Given the description of an element on the screen output the (x, y) to click on. 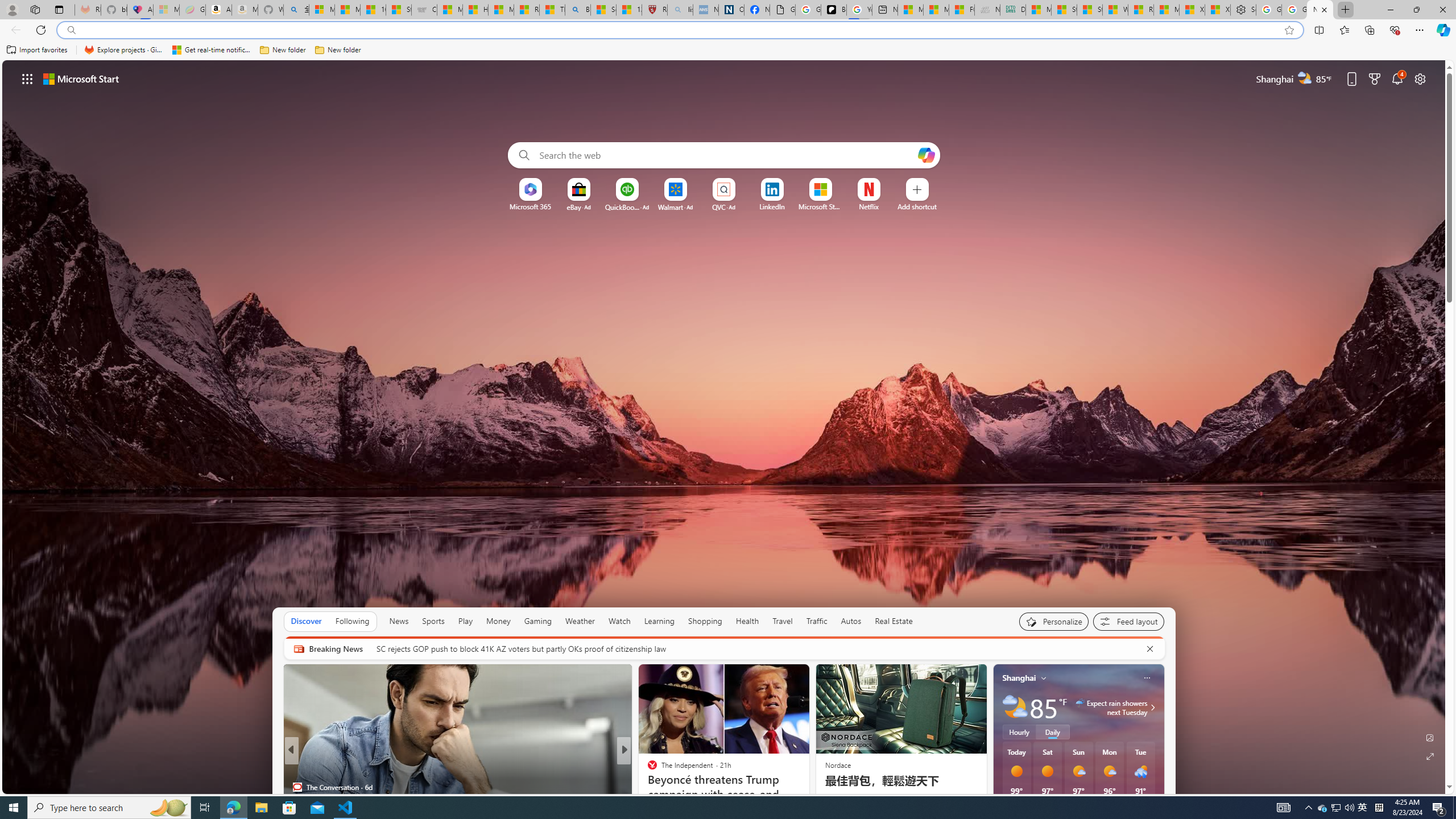
Rain showers (1140, 771)
Personalize your feed" (1054, 621)
Netflix (869, 206)
Shanghai (1018, 678)
